Given the description of an element on the screen output the (x, y) to click on. 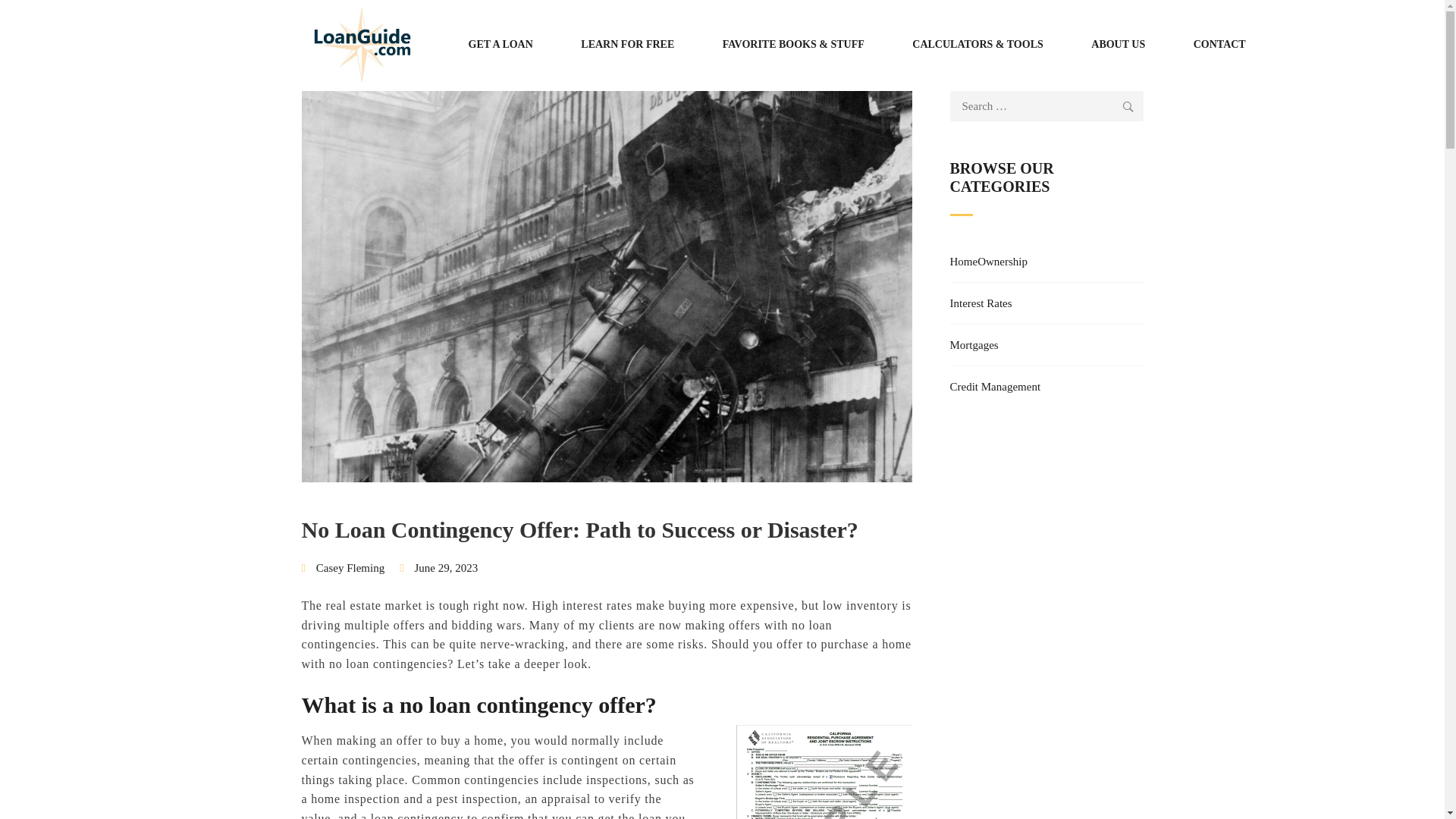
CONTACT (1219, 44)
Loan Guide (362, 44)
Search (1127, 105)
Search (1127, 105)
GET A LOAN (500, 44)
LEARN FOR FREE (627, 44)
ABOUT US (1117, 44)
No loan contingency (823, 771)
